Given the description of an element on the screen output the (x, y) to click on. 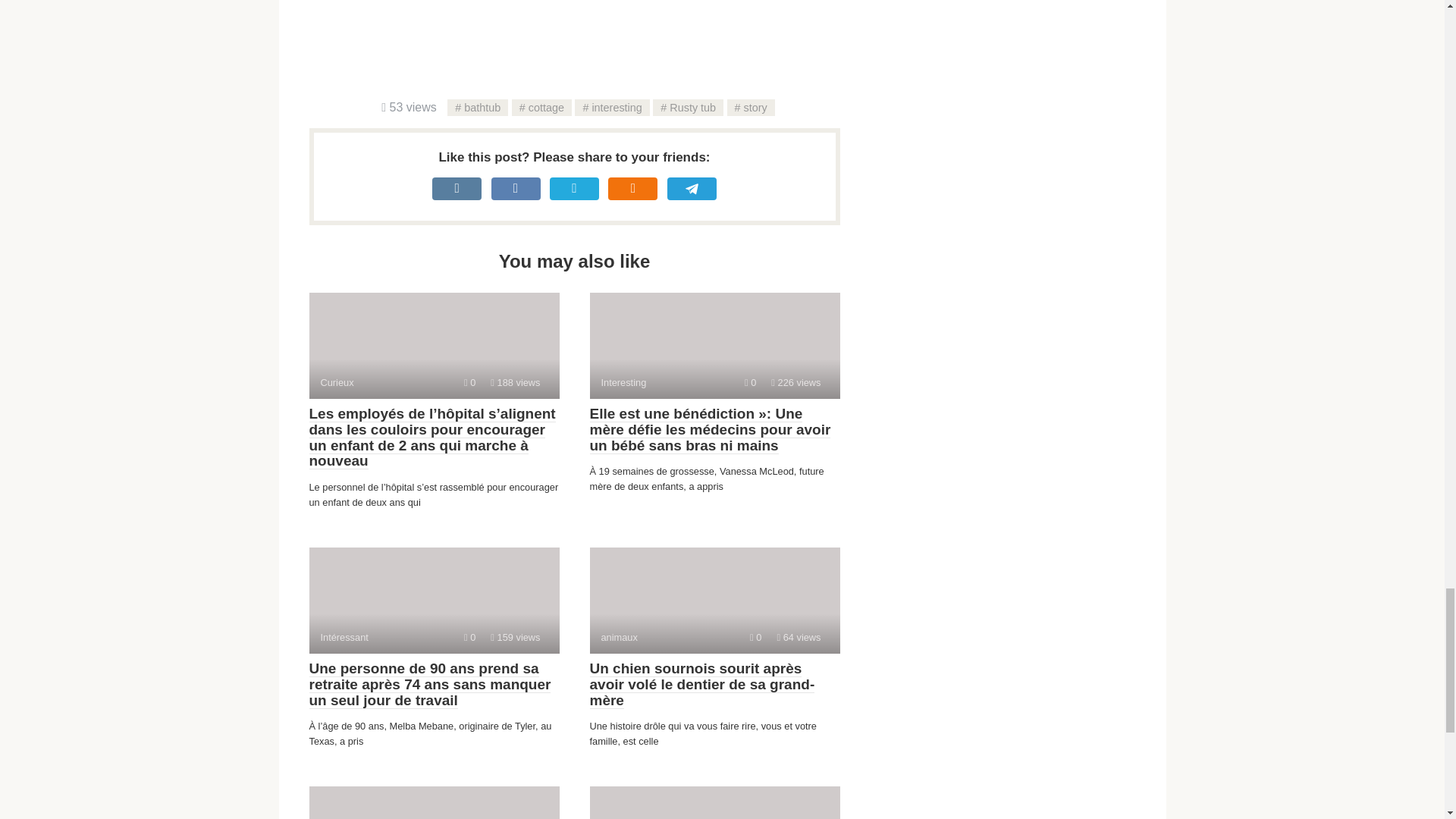
Comments (749, 382)
Views (433, 345)
Views (714, 345)
Comments (796, 382)
Views (433, 802)
cottage (798, 636)
Rusty tub (470, 382)
interesting (515, 636)
Views (542, 107)
Comments (714, 802)
bathtub (687, 107)
